Given the description of an element on the screen output the (x, y) to click on. 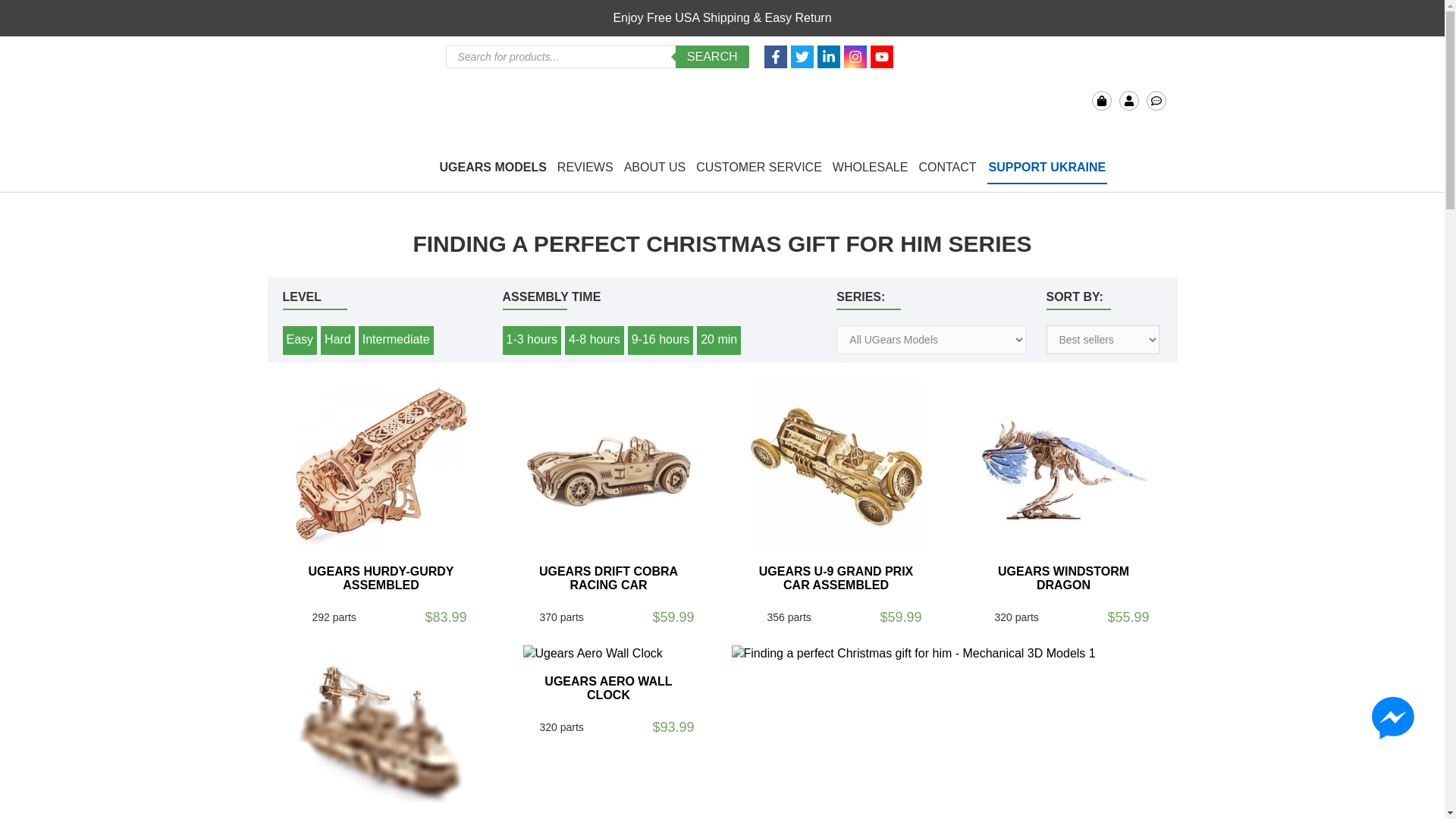
Ugears Aero Wall Clock (608, 653)
Intermediate (395, 339)
4-8 hours (594, 339)
Chat us now (1156, 100)
CUSTOMER SERVICE (758, 168)
SEARCH (712, 56)
20 min (719, 339)
9-16 hours (660, 339)
Hard (337, 339)
WHOLESALE (870, 168)
